Given the description of an element on the screen output the (x, y) to click on. 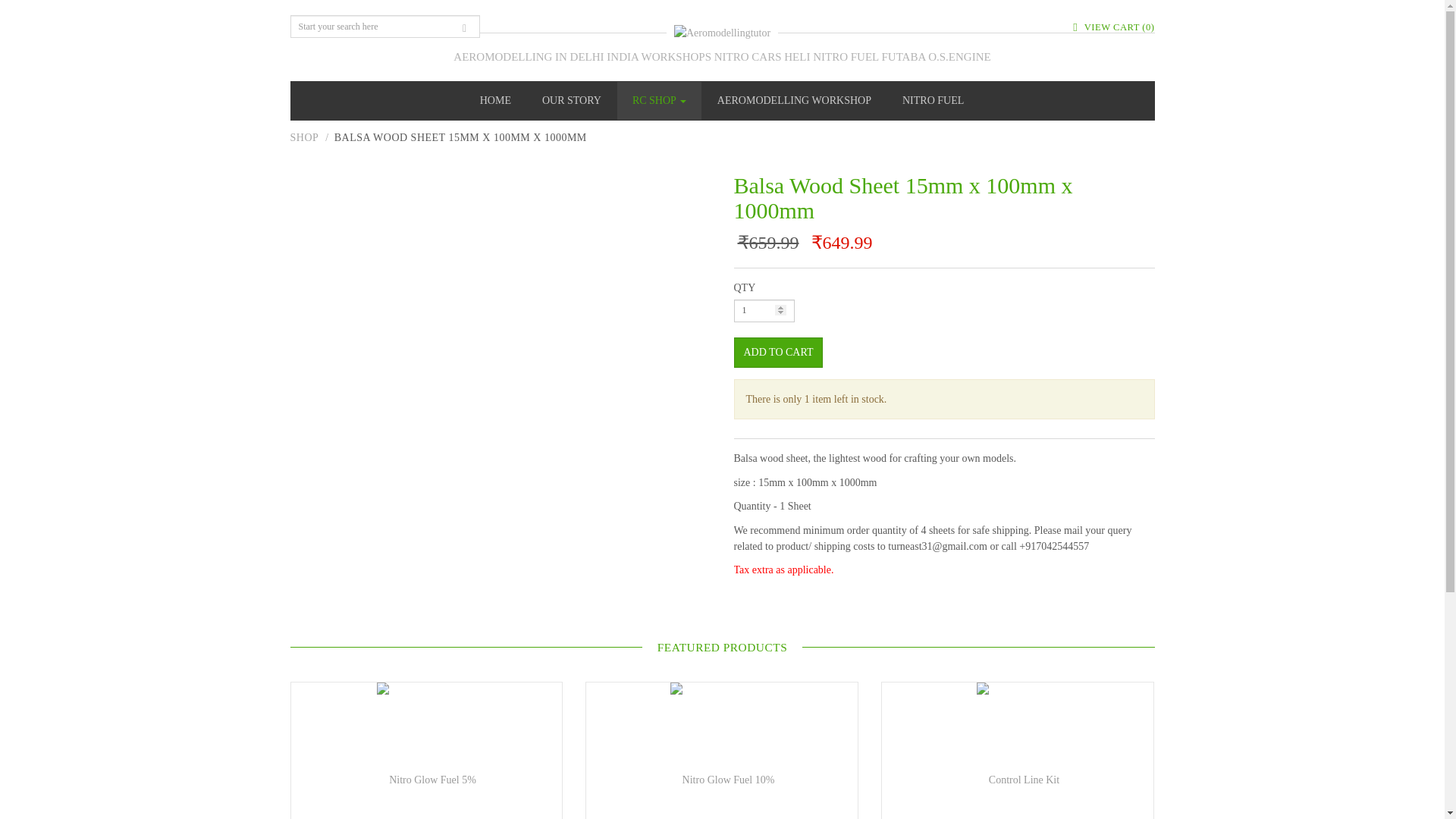
Add to Cart (778, 352)
OUR STORY (571, 100)
RC SHOP (659, 100)
HOME (494, 100)
1 (763, 310)
